Given the description of an element on the screen output the (x, y) to click on. 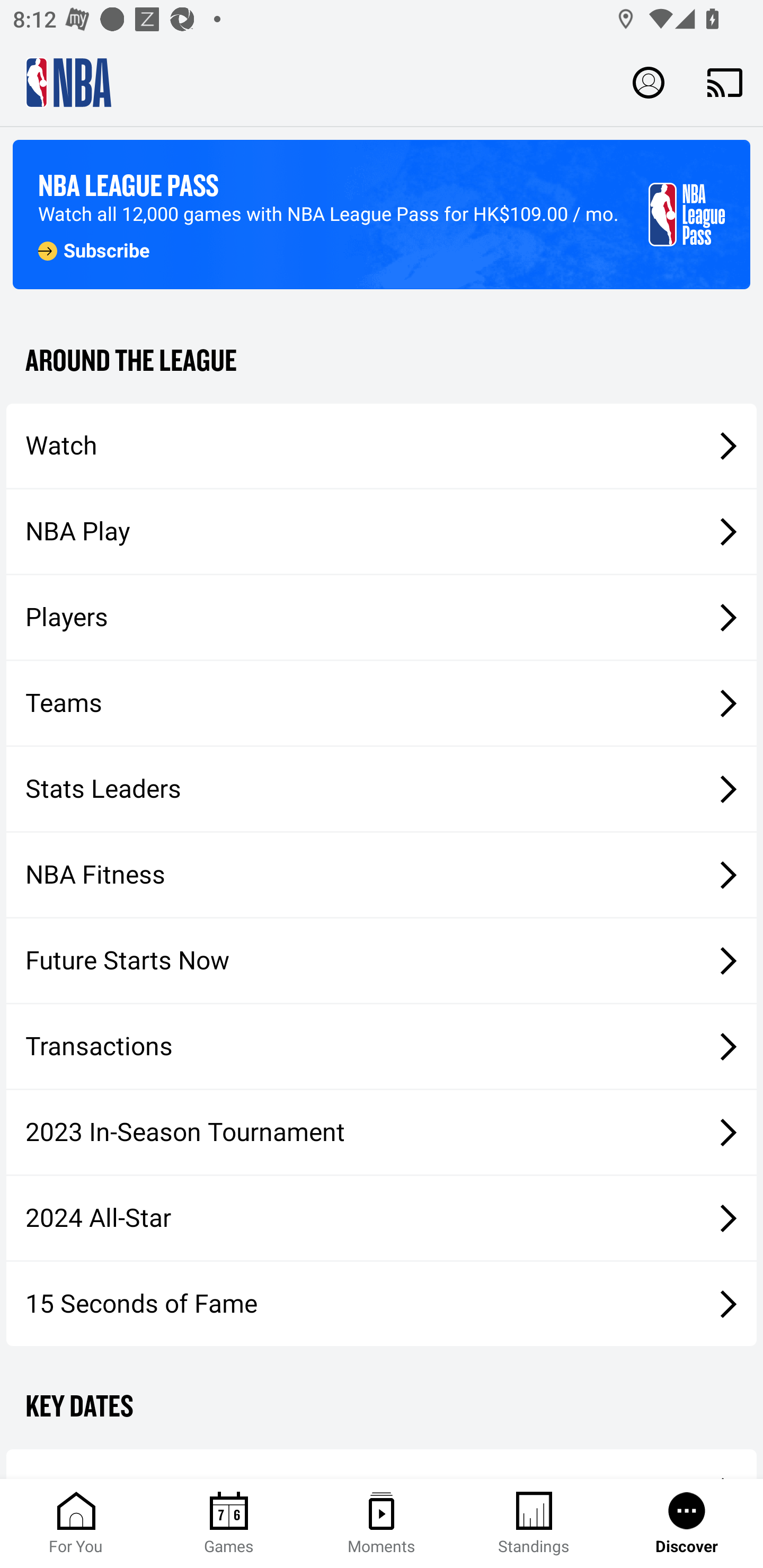
Cast. Disconnected (724, 82)
Profile (648, 81)
Watch (381, 444)
NBA Play (381, 531)
Players (381, 617)
Teams (381, 702)
Stats Leaders (381, 788)
NBA Fitness (381, 874)
Future Starts Now (381, 960)
Transactions (381, 1046)
2023 In-Season Tournament (381, 1131)
2024 All-Star (381, 1218)
15 Seconds of Fame (381, 1303)
For You (76, 1523)
Games (228, 1523)
Moments (381, 1523)
Standings (533, 1523)
